Given the description of an element on the screen output the (x, y) to click on. 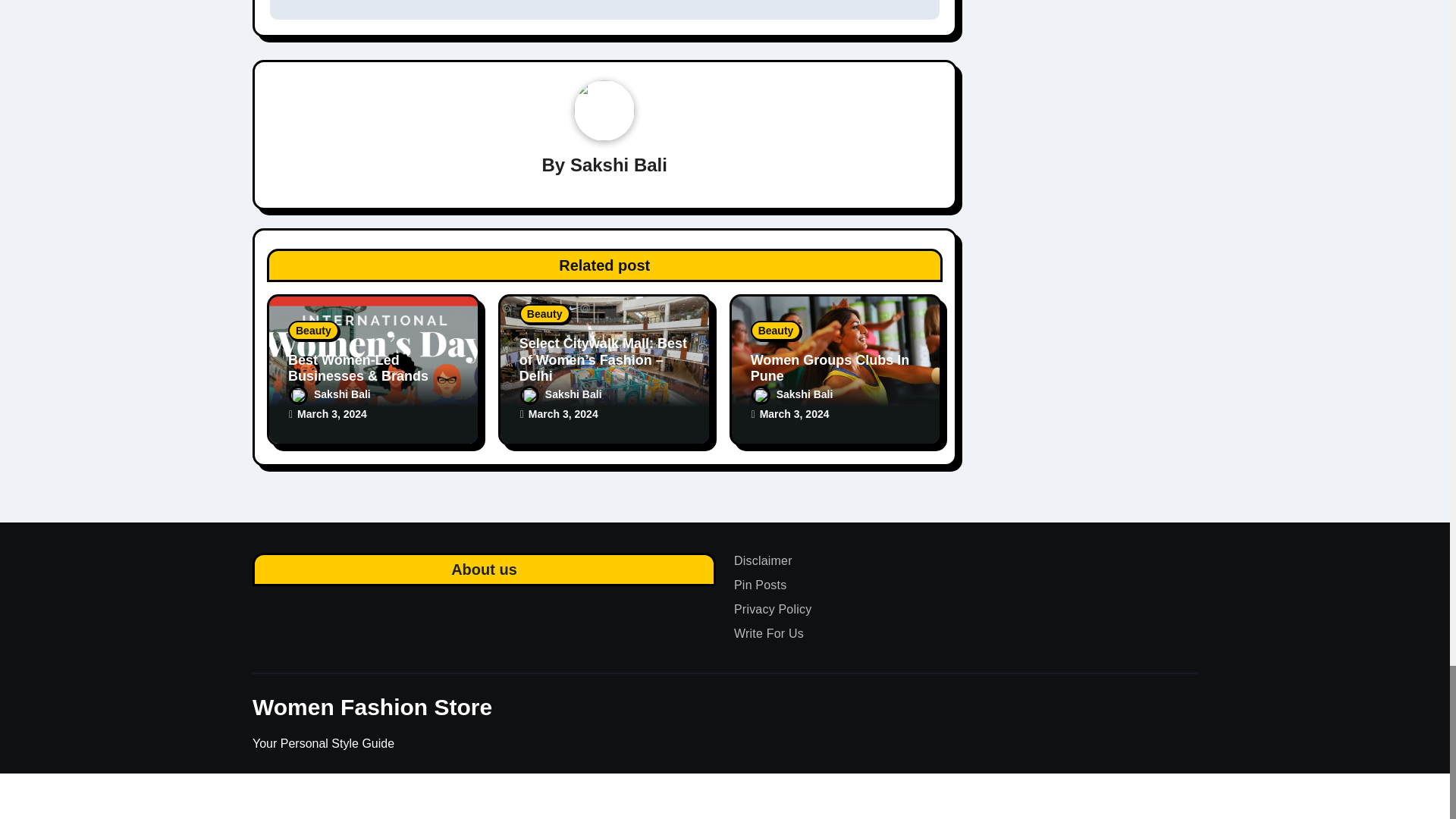
Permalink to: Women Groups Clubs In Pune (830, 368)
Sakshi Bali (618, 164)
Beauty (313, 330)
